Given the description of an element on the screen output the (x, y) to click on. 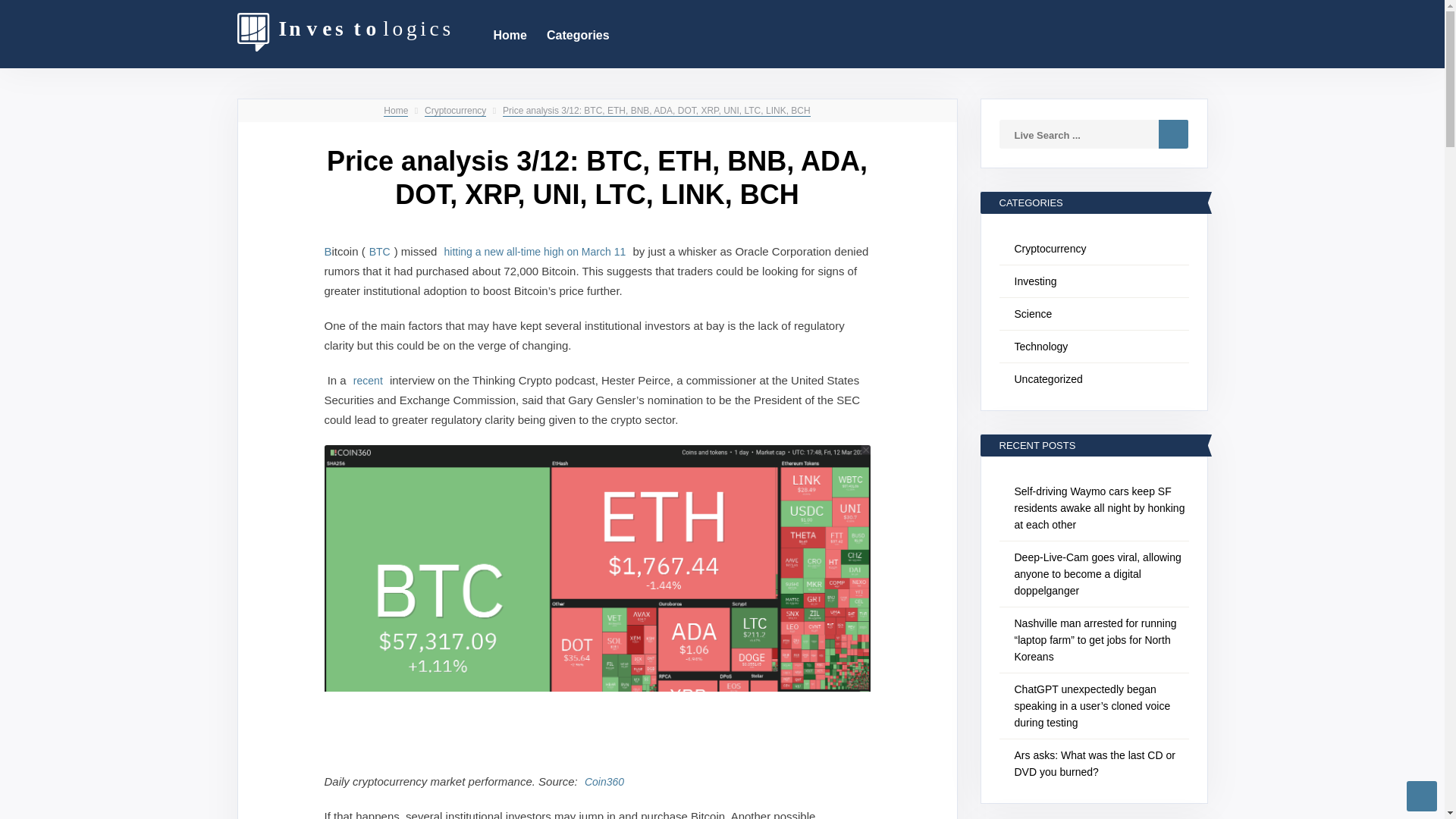
hitting a new all-time high on March 11 (535, 250)
Categories (577, 33)
BTC (379, 250)
Home (509, 33)
Search (1173, 133)
View all posts in Cryptocurrency (455, 111)
Coin360 (603, 780)
Cryptocurrency (455, 111)
Home (395, 111)
recent (368, 379)
